Given the description of an element on the screen output the (x, y) to click on. 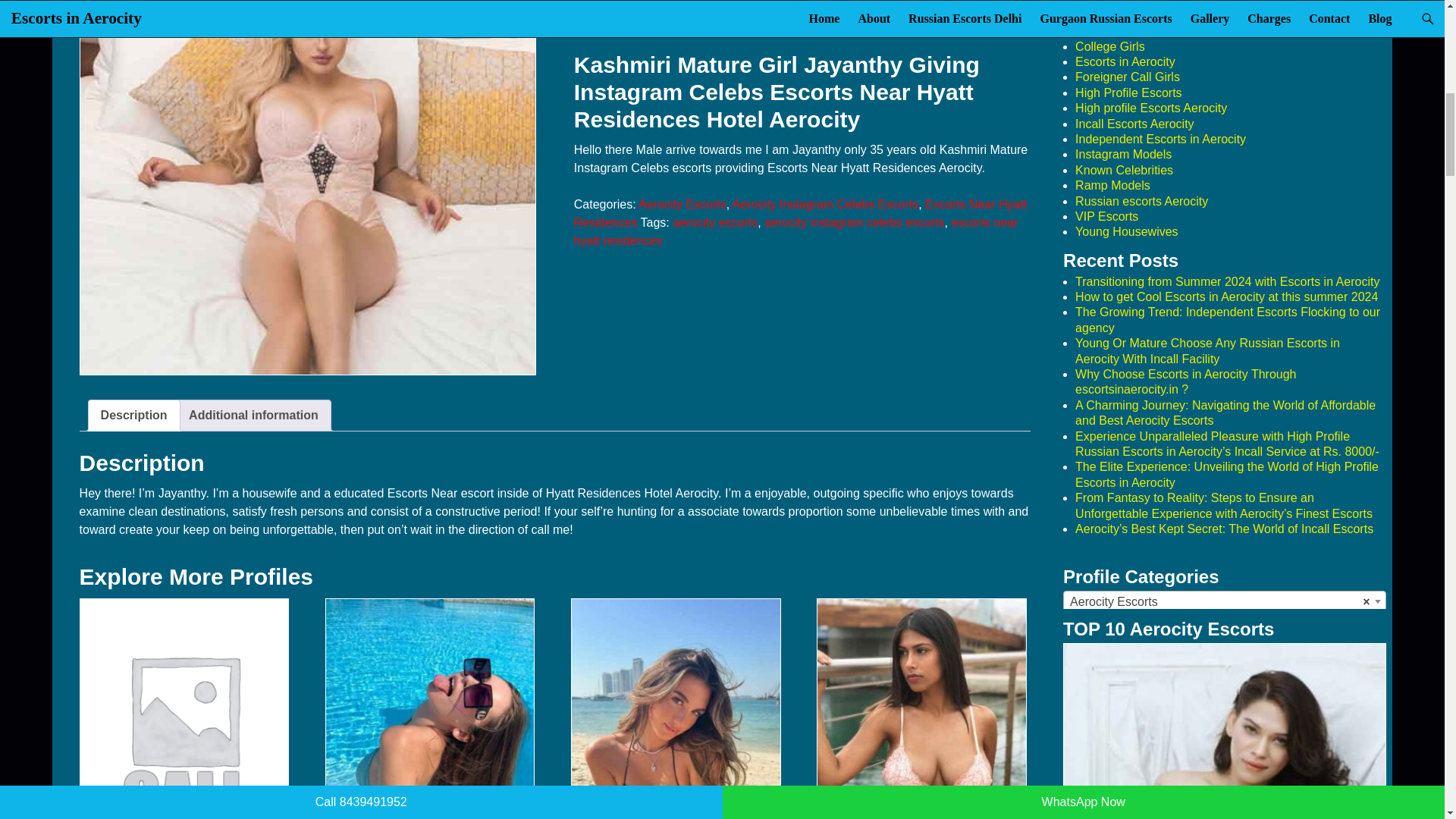
aerocity escorts (714, 222)
Additional information (253, 415)
Aerocity Escorts (1225, 601)
aerocity instagram celebs escorts (853, 222)
Aerocity Instagram Celebs Escorts (825, 204)
Description (133, 415)
Escorts Near Hyatt Residences (800, 213)
Aerocity Escorts (682, 204)
escorts near hyatt residences (795, 231)
